Given the description of an element on the screen output the (x, y) to click on. 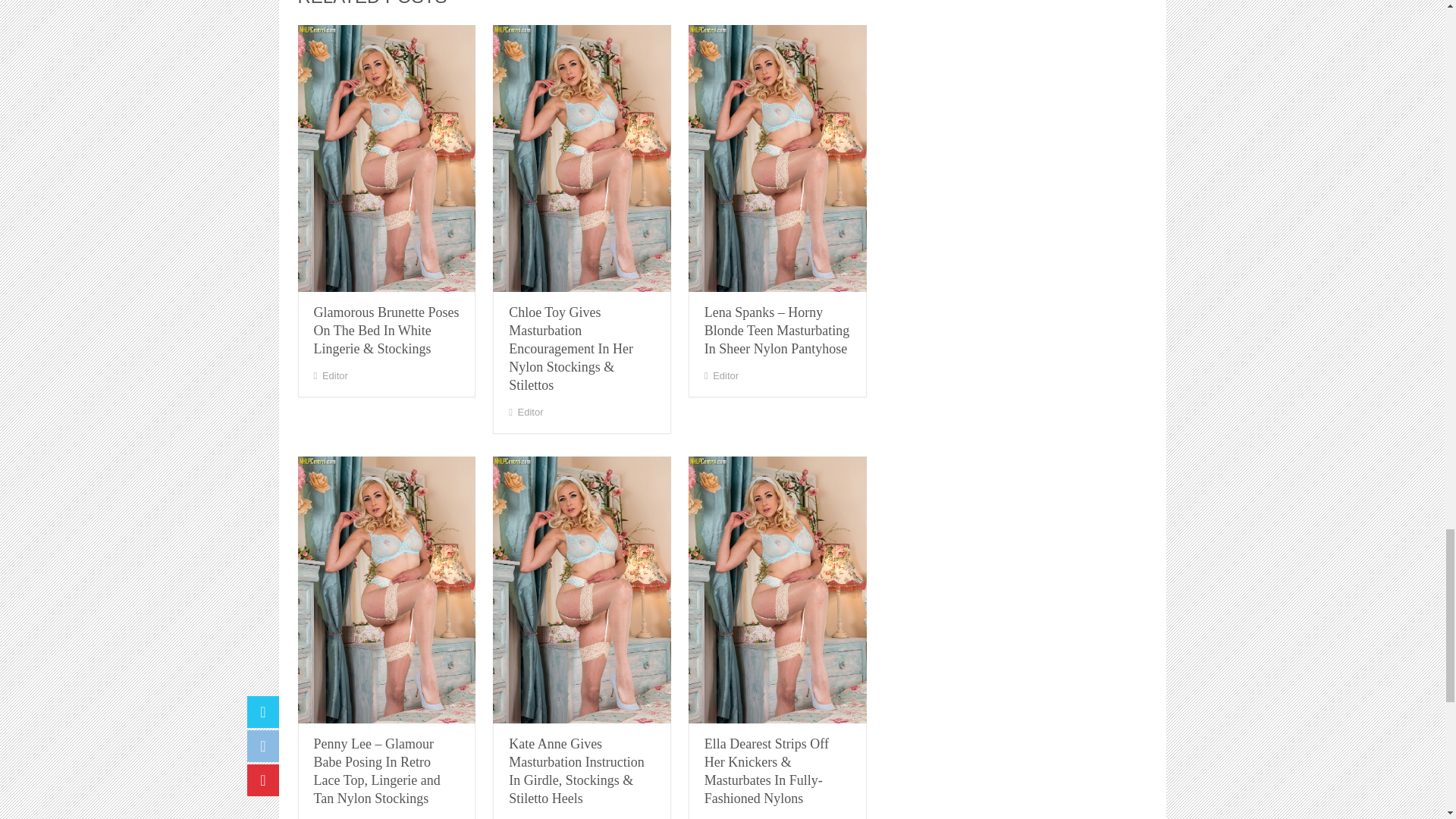
Posts by Editor (530, 411)
Editor (530, 411)
Editor (334, 375)
Editor (725, 375)
Posts by Editor (334, 375)
